Given the description of an element on the screen output the (x, y) to click on. 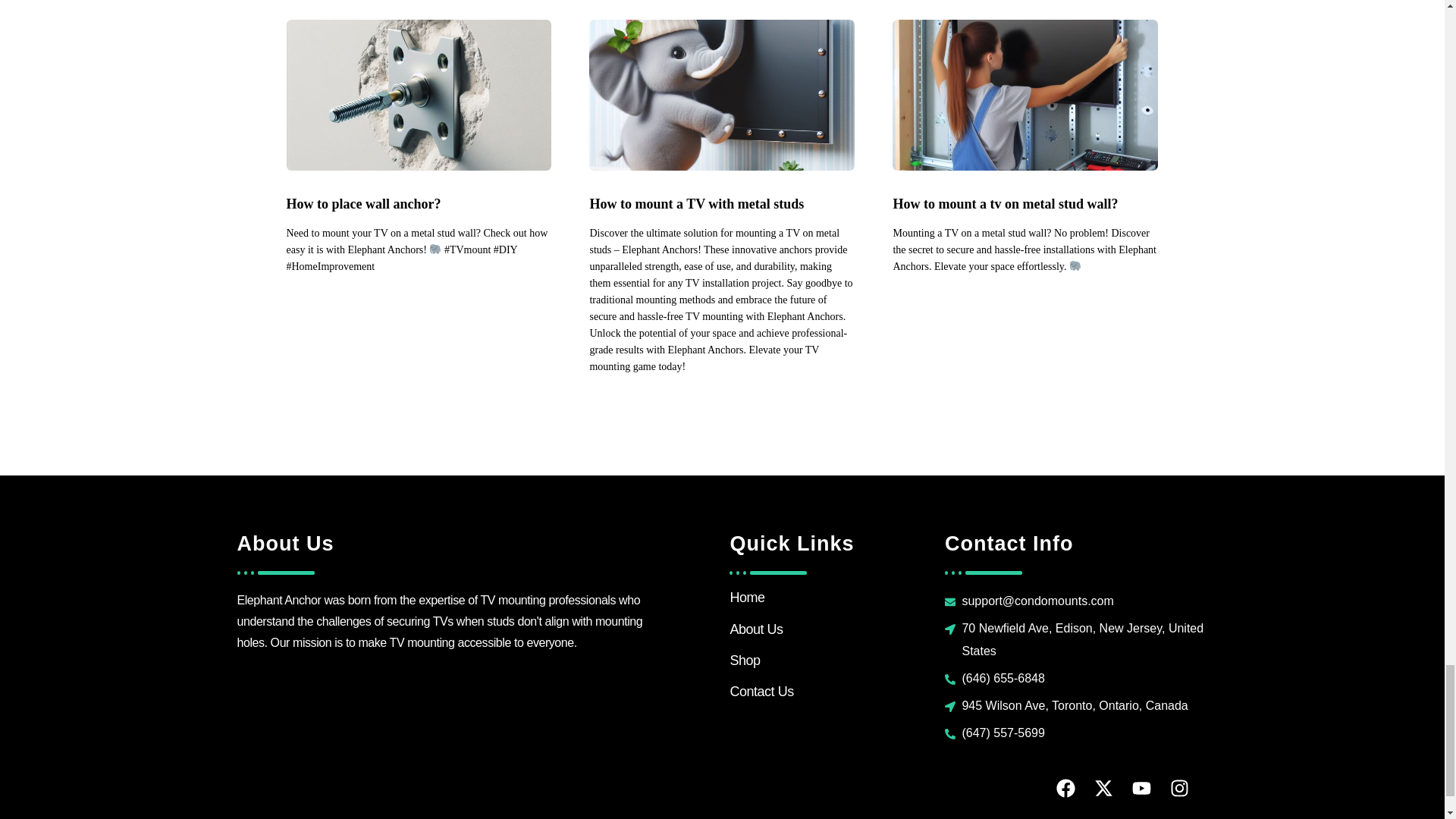
How to mount a tv on metal stud wall? (1024, 204)
View Post: How to mount a tv on metal stud wall?  (1024, 204)
How to mount a TV with metal studs (721, 204)
Contact Us (761, 691)
How to place wall anchor? (418, 204)
View Post: How to mount a TV with metal studs  (721, 204)
About Us (756, 629)
 View Post: How to place wall anchor? (418, 94)
 View Post: How to mount a TV with metal studs (721, 94)
Shop (744, 660)
Home (746, 597)
 View Post: How to mount a tv on metal stud wall? (1024, 94)
View Post: How to place wall anchor?  (418, 204)
